Given the description of an element on the screen output the (x, y) to click on. 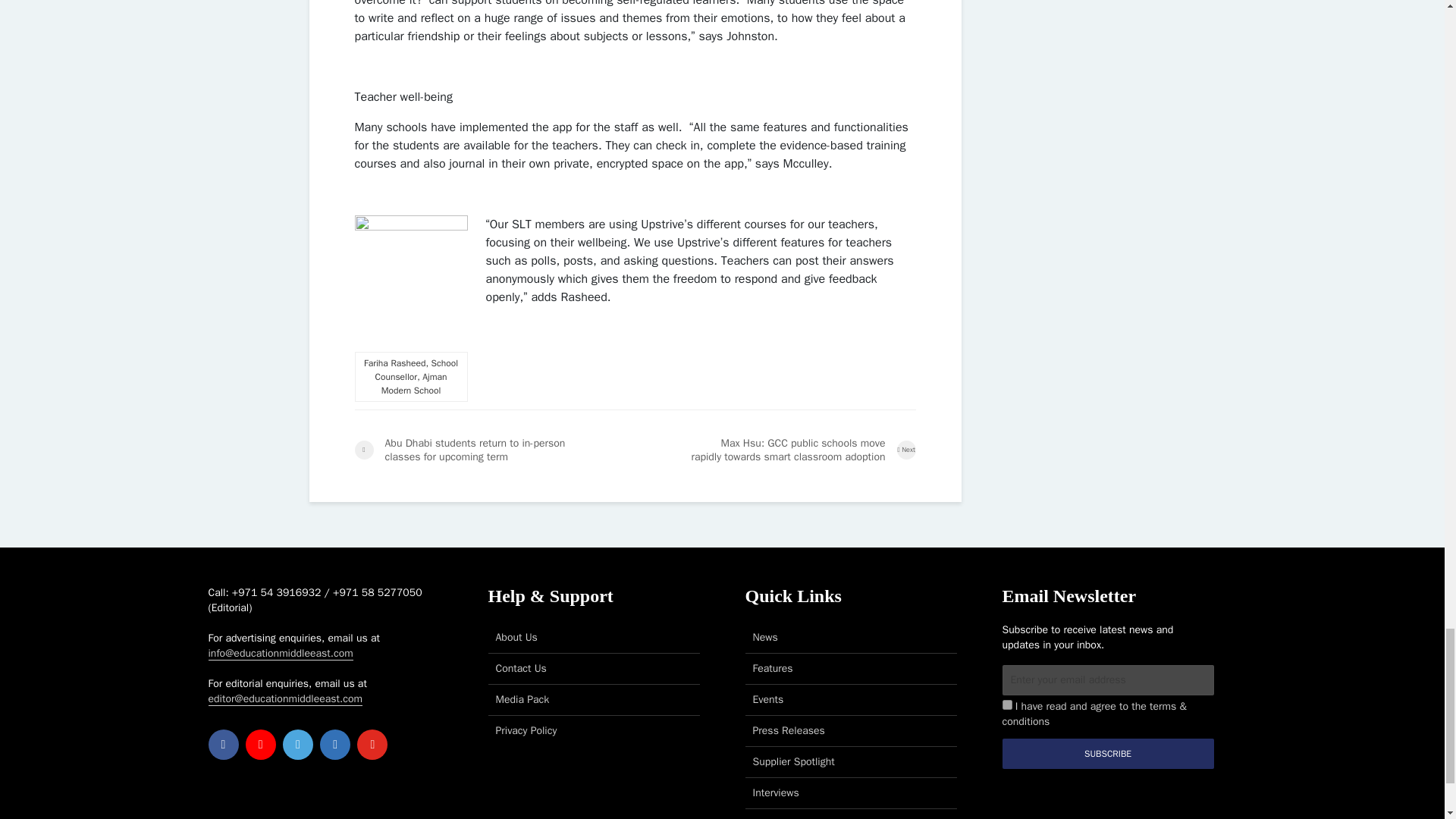
Twitter (297, 744)
1 (1007, 705)
Subscribe (1108, 753)
Facebook (223, 744)
instagram (261, 744)
Youtube (371, 744)
LinkedIn (335, 744)
Subscribe (1108, 753)
